Given the description of an element on the screen output the (x, y) to click on. 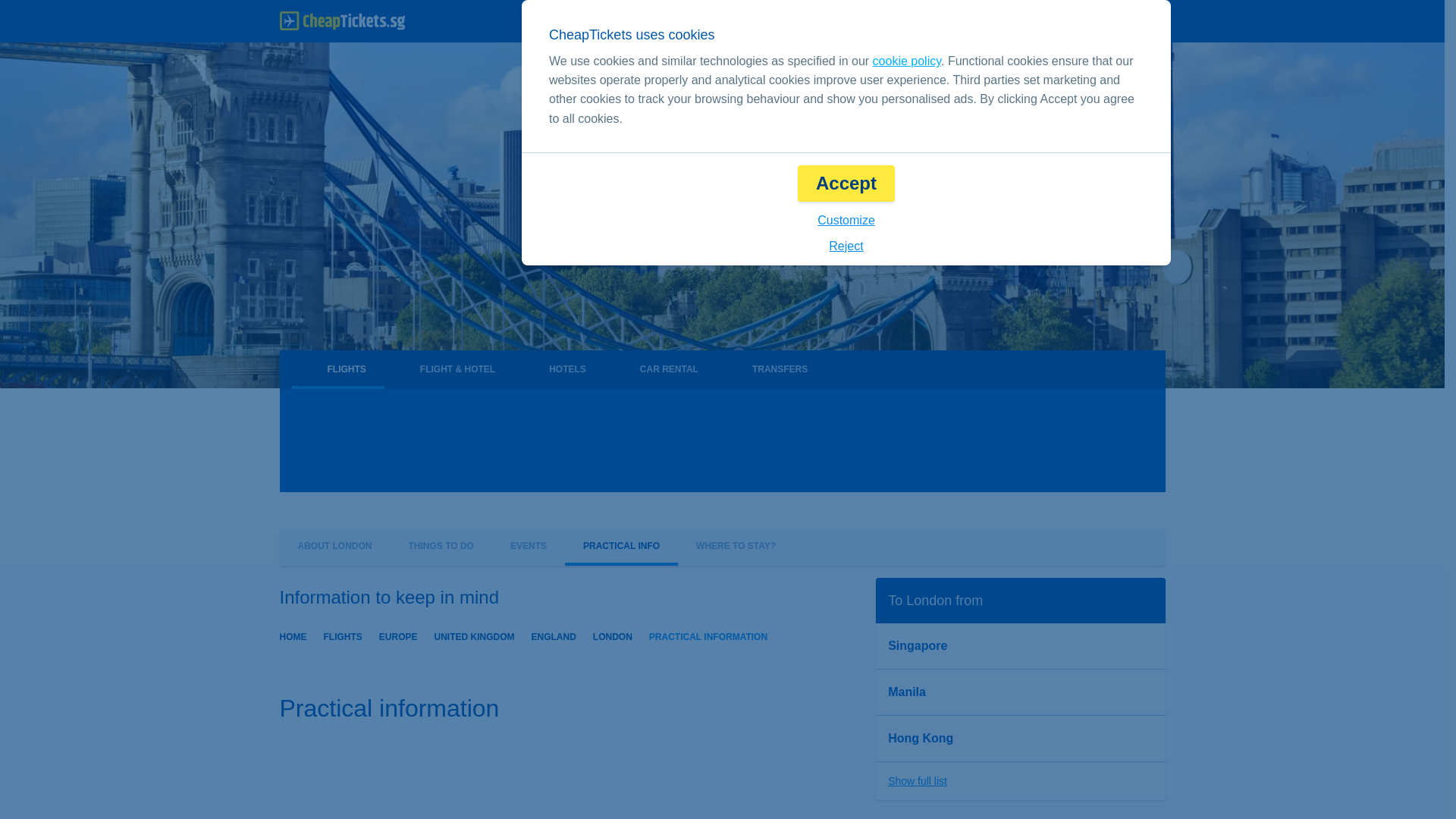
HOME (292, 635)
EUROPE (397, 635)
Accept (846, 183)
FLIGHTS (342, 635)
My Account (1116, 21)
cookie policy (906, 60)
UNITED KINGDOM (474, 635)
LONDON (611, 635)
ENGLAND (553, 635)
English (902, 21)
